Given the description of an element on the screen output the (x, y) to click on. 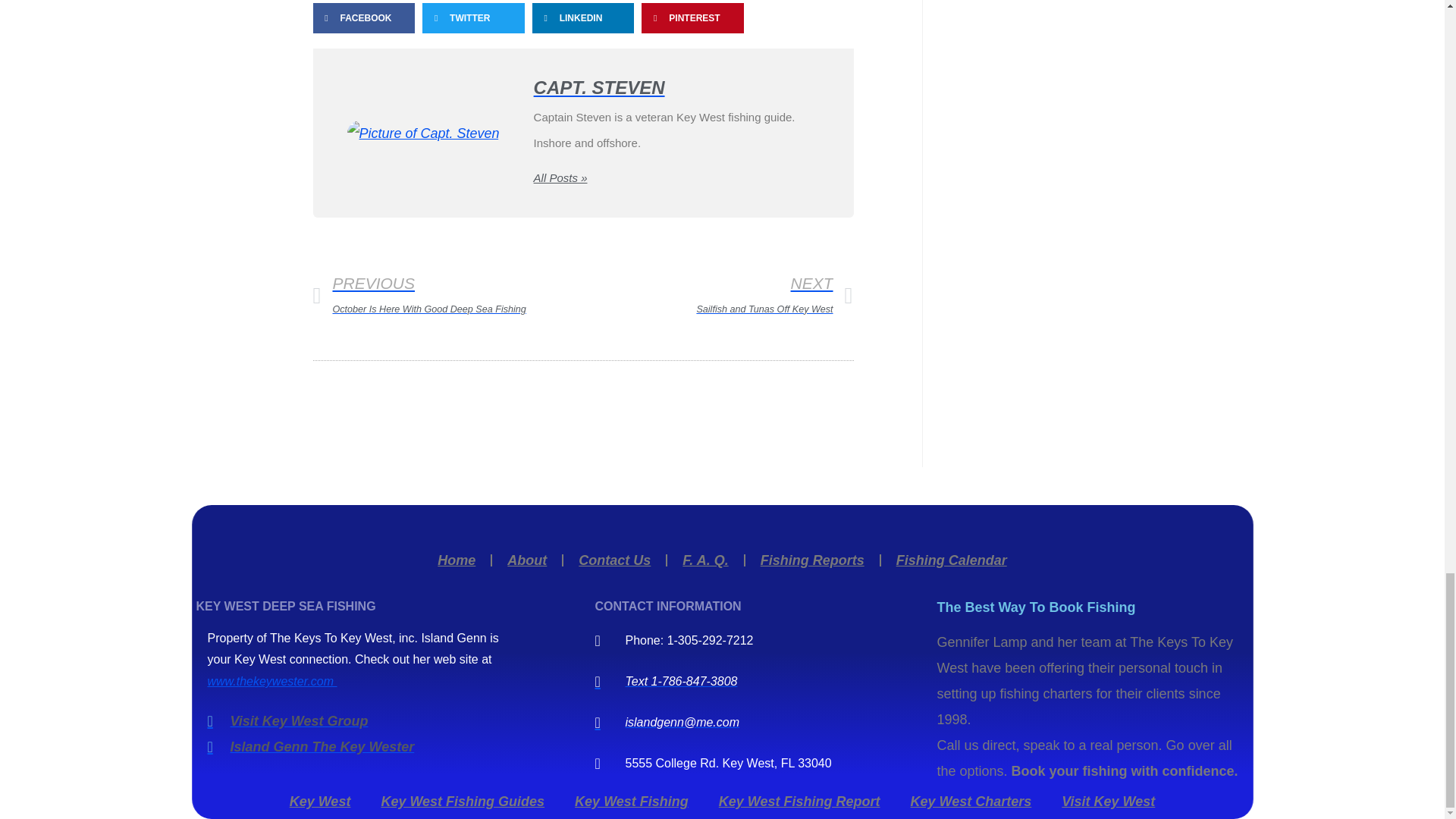
F. A. Q. (704, 560)
CAPT. STEVEN (676, 87)
About (447, 296)
Contact Us (527, 560)
Home (614, 560)
Fishing Reports (456, 560)
Fishing Calendar (812, 560)
